Given the description of an element on the screen output the (x, y) to click on. 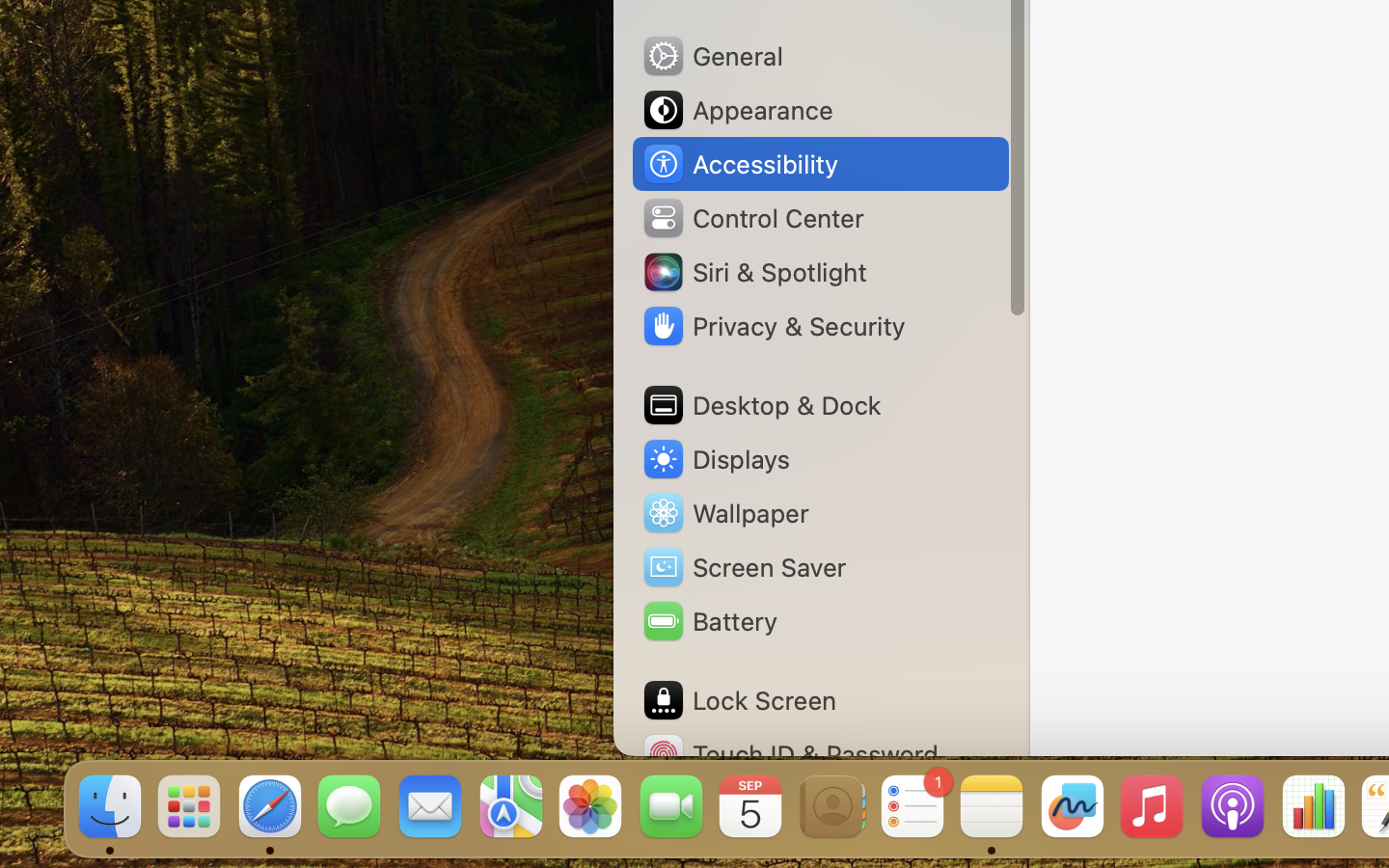
Siri & Spotlight Element type: AXStaticText (753, 271)
Desktop & Dock Element type: AXStaticText (760, 404)
General Element type: AXStaticText (711, 55)
Control Center Element type: AXStaticText (752, 217)
Lock Screen Element type: AXStaticText (738, 700)
